Given the description of an element on the screen output the (x, y) to click on. 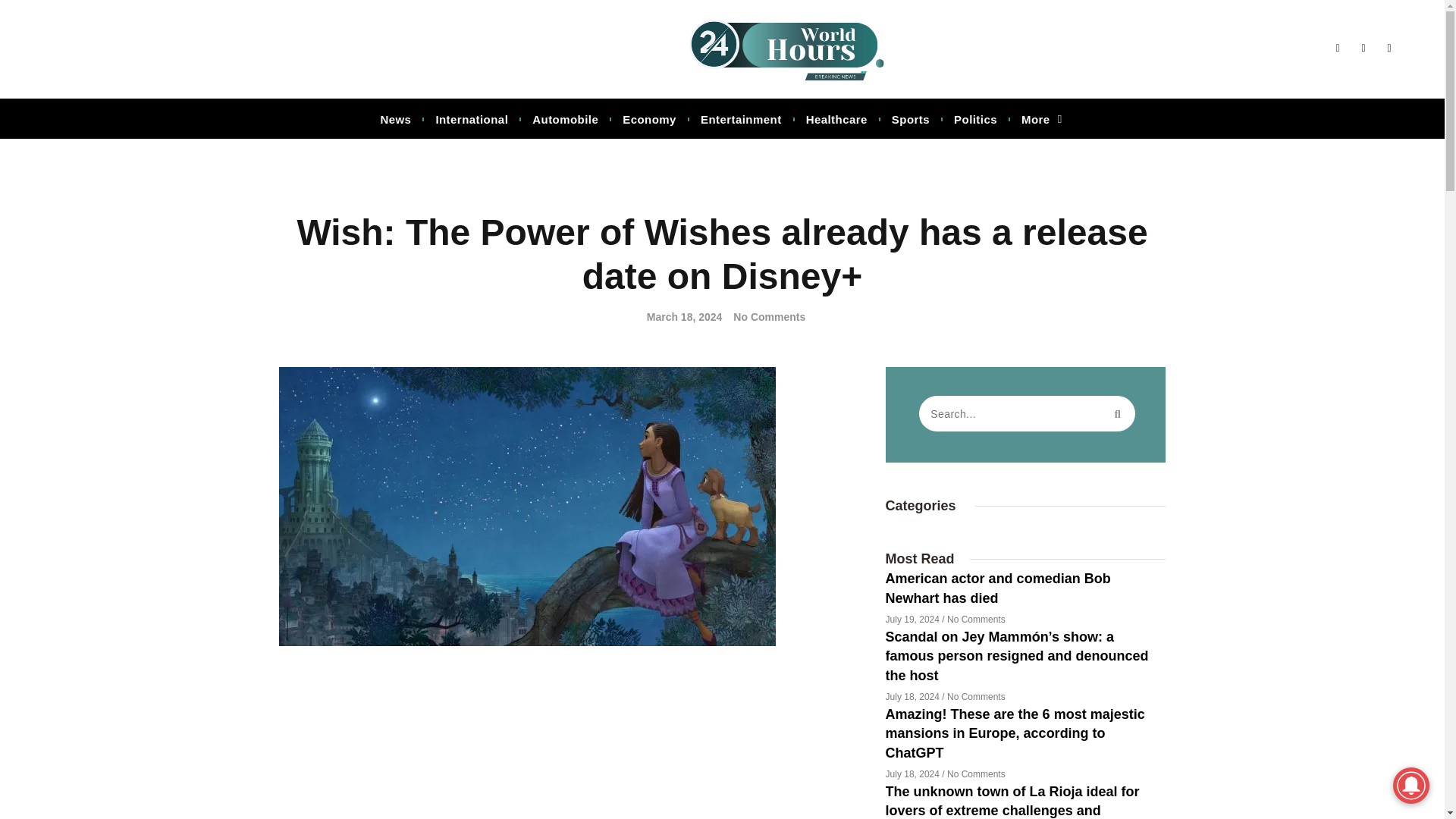
International (471, 119)
Sports (910, 119)
News (395, 119)
Politics (975, 119)
Healthcare (836, 119)
Automobile (564, 119)
Economy (649, 119)
Advertisement (571, 744)
More (1041, 119)
Entertainment (741, 119)
